Given the description of an element on the screen output the (x, y) to click on. 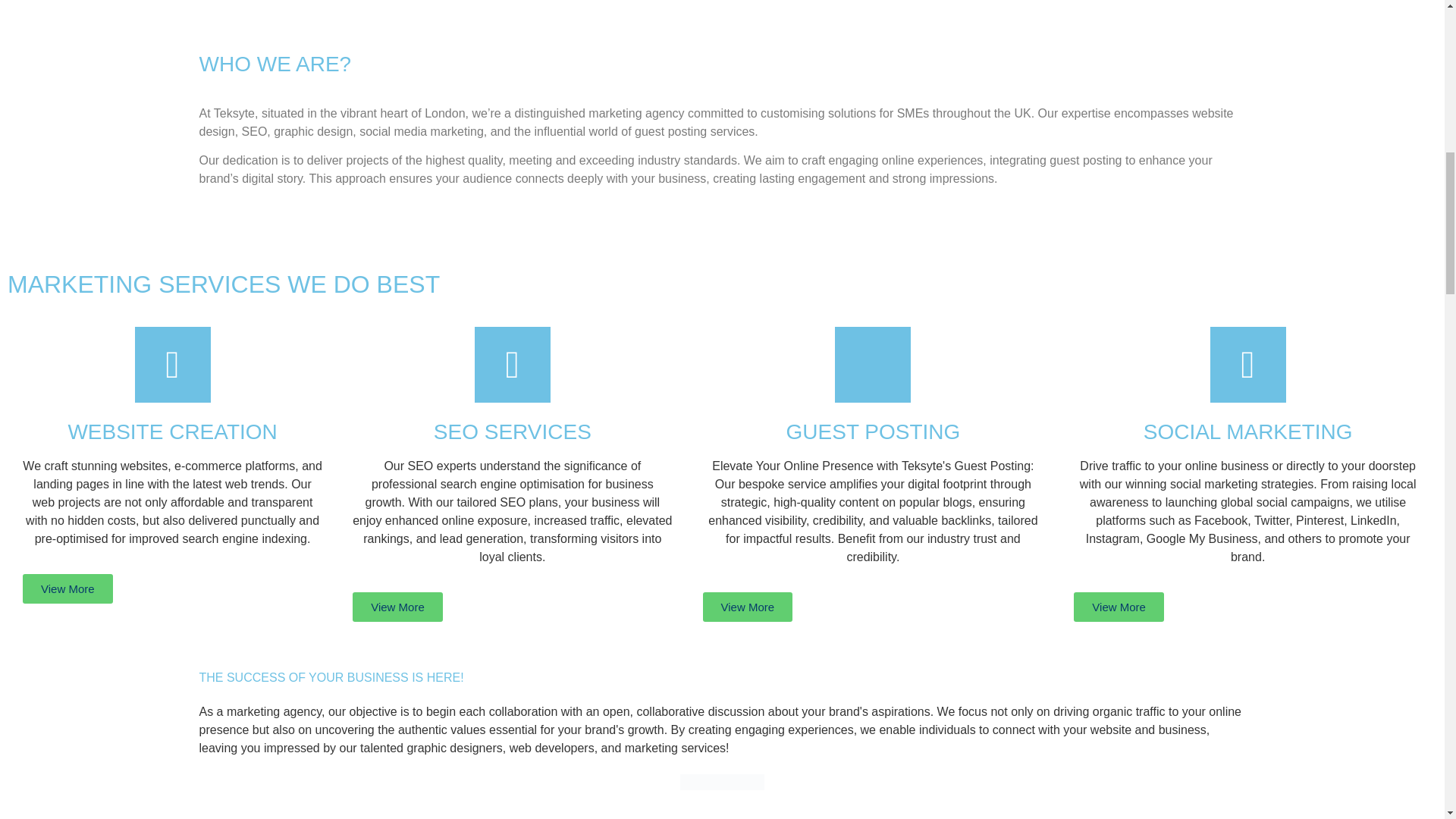
View More (746, 606)
View More (1118, 606)
View More (397, 606)
View More (68, 588)
